Given the description of an element on the screen output the (x, y) to click on. 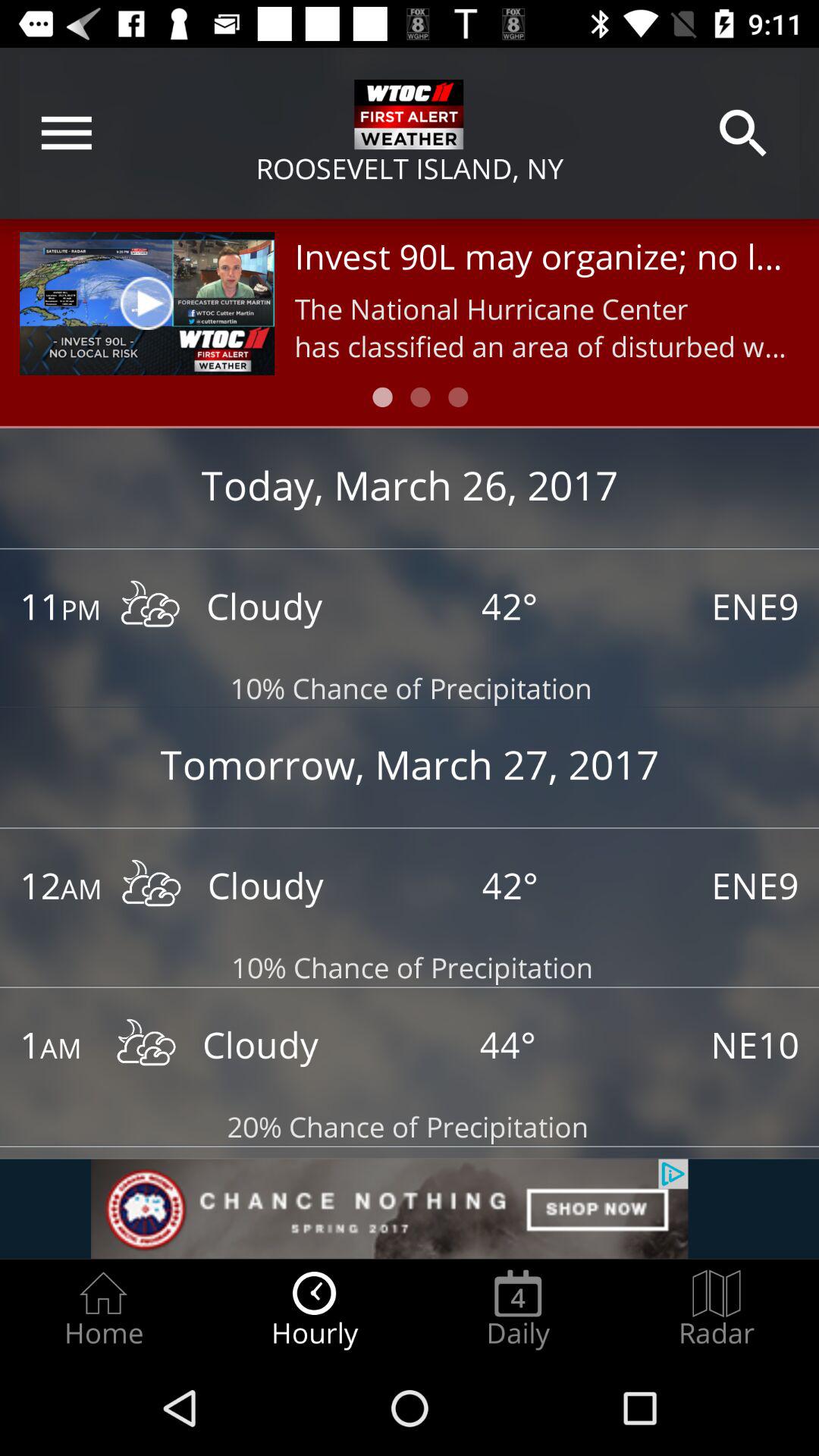
tap icon to the right of the daily (716, 1309)
